Given the description of an element on the screen output the (x, y) to click on. 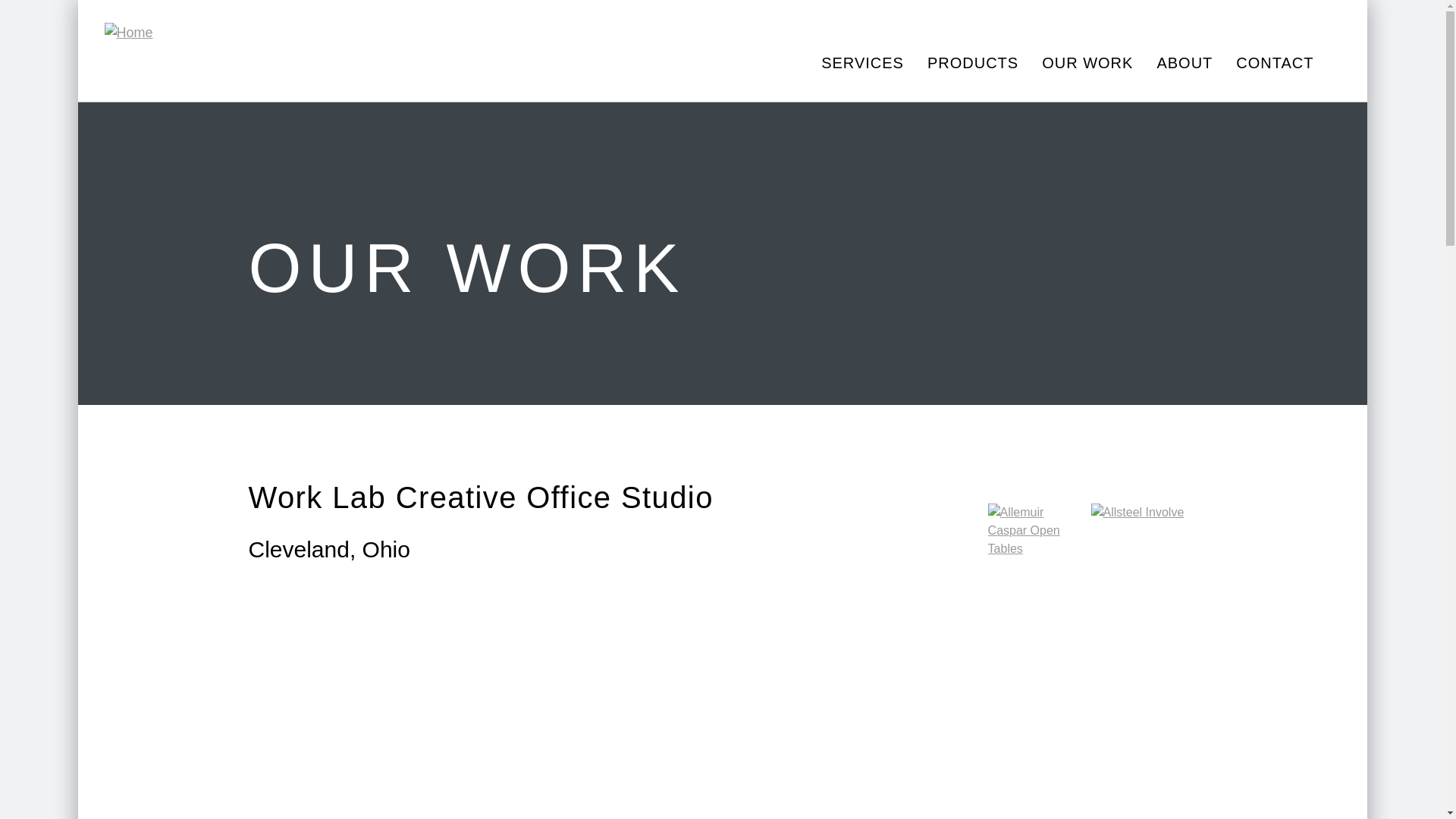
Allsteel Involve (1139, 551)
SERVICES (862, 62)
OUR WORK (1086, 62)
Allemuir Caspar Open Tables (1036, 551)
PRODUCTS (971, 62)
YouTube video player (460, 701)
